Given the description of an element on the screen output the (x, y) to click on. 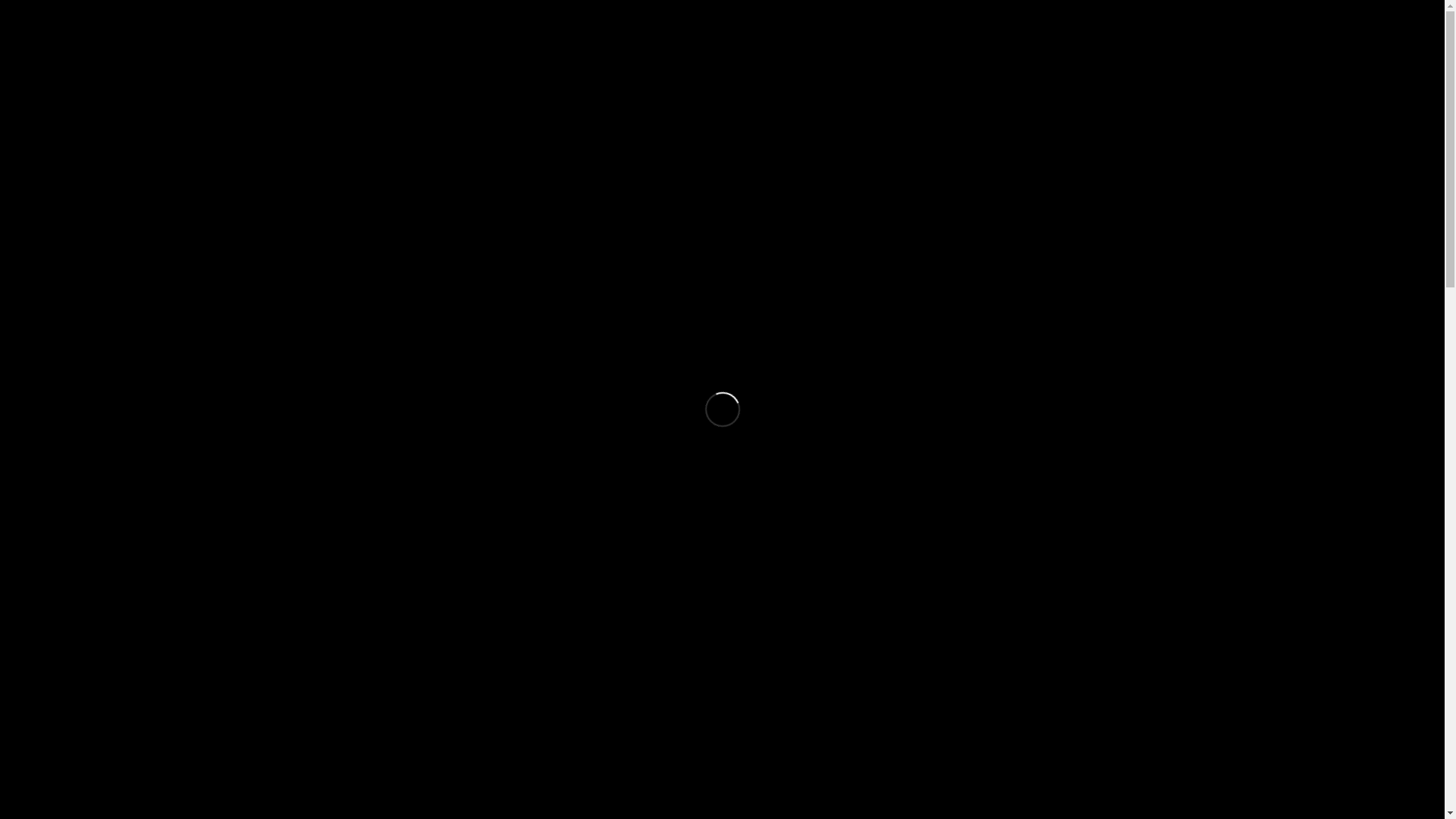
About Element type: text (771, 15)
KIDS Element type: text (821, 97)
WOMEN Element type: text (704, 97)
MEN Element type: text (766, 97)
Contact Us Element type: text (942, 15)
Shipping Element type: text (892, 15)
0 Element type: text (1140, 95)
GIFT VOUCHER Element type: text (982, 97)
Payment Options Element type: text (828, 15)
Terms & Conditions Element type: text (1113, 15)
Returns & Exchanges Element type: text (1019, 15)
BRANDS Element type: text (886, 97)
SALE Element type: text (1070, 97)
